Given the description of an element on the screen output the (x, y) to click on. 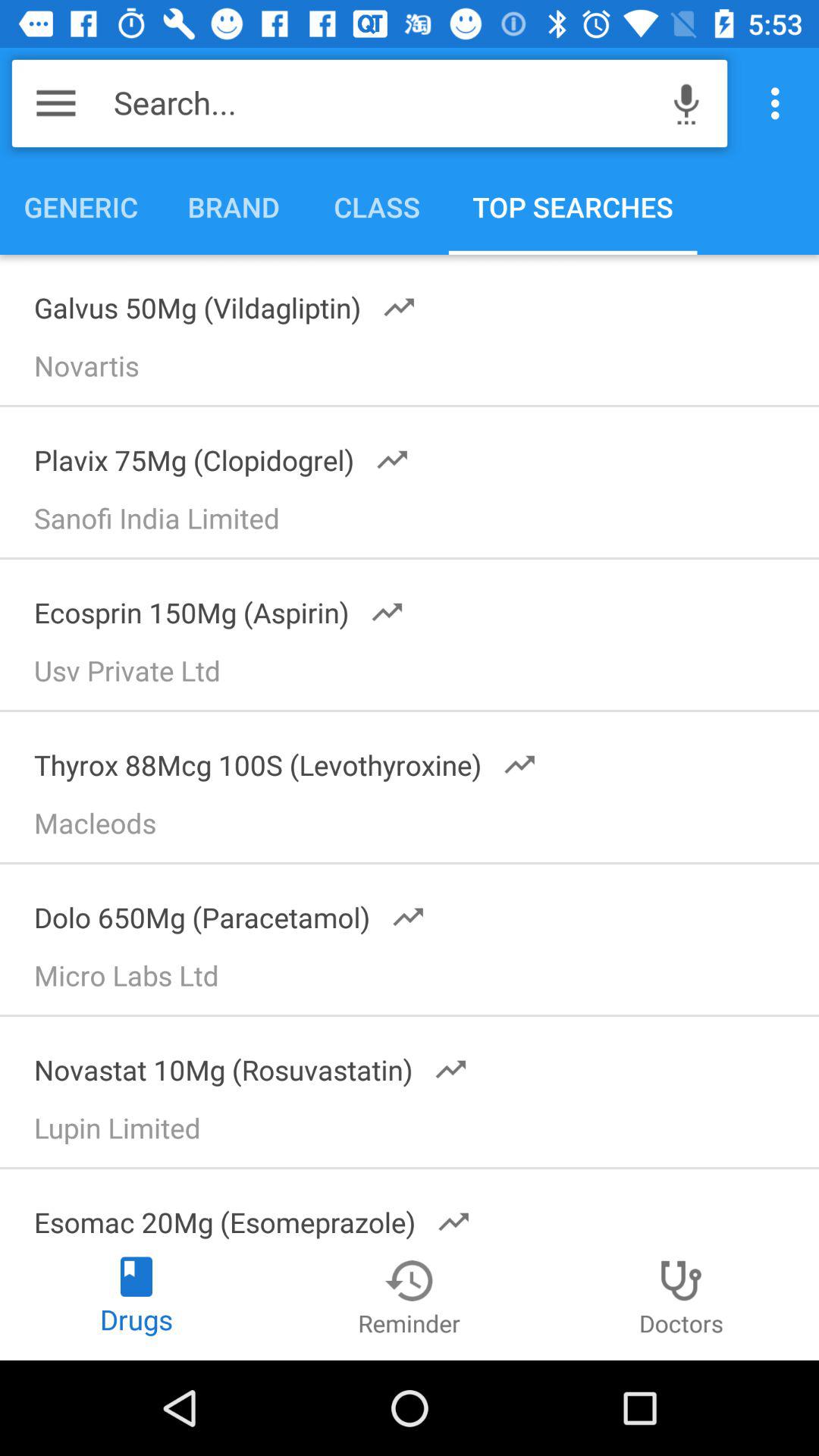
launch the dolo 650mg (paracetamol) (219, 912)
